Given the description of an element on the screen output the (x, y) to click on. 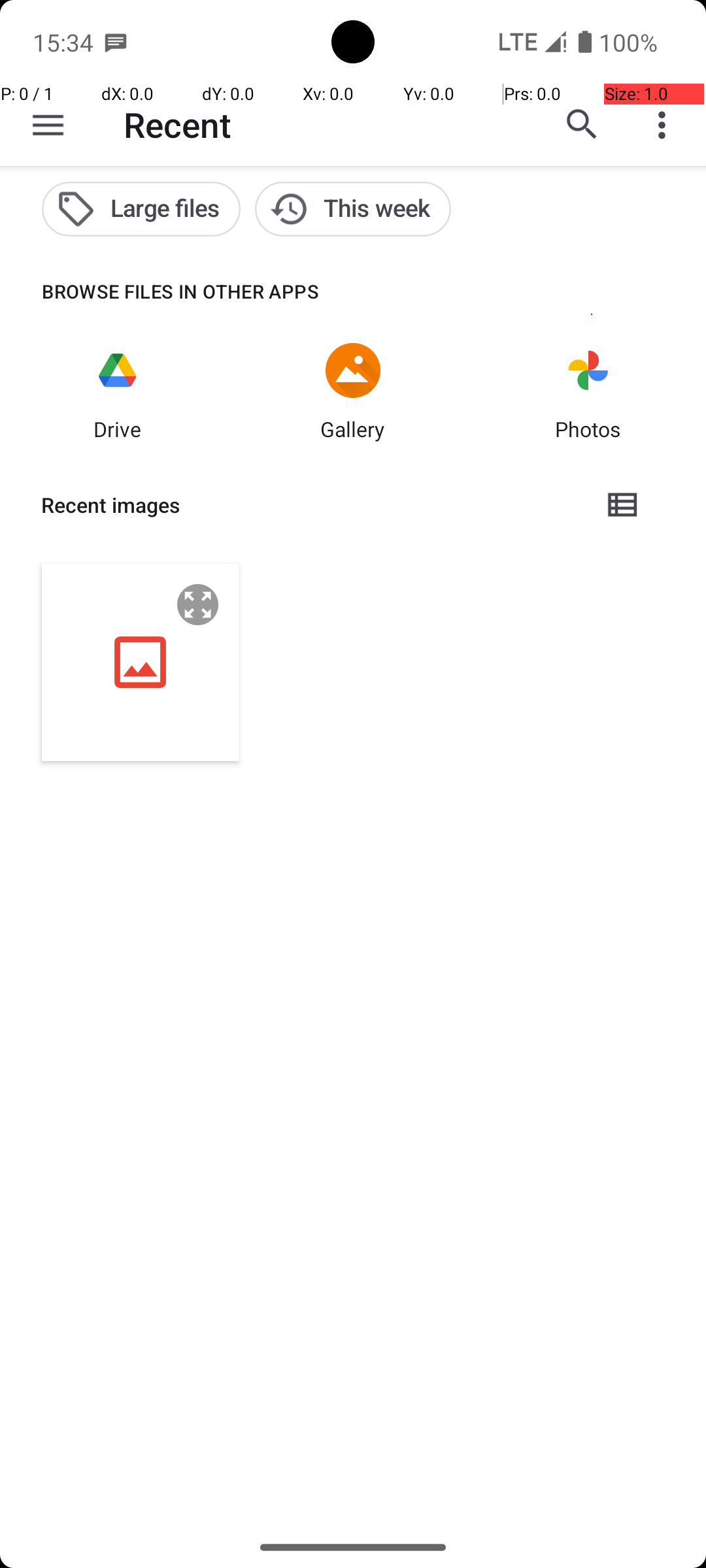
Recent images Element type: android.widget.TextView (311, 504)
IMG_20231015_153418.jpg, 30.95 kB, 15:34 Element type: android.widget.LinearLayout (140, 662)
Preview the file IMG_20231015_153418.jpg Element type: android.widget.FrameLayout (197, 604)
